Given the description of an element on the screen output the (x, y) to click on. 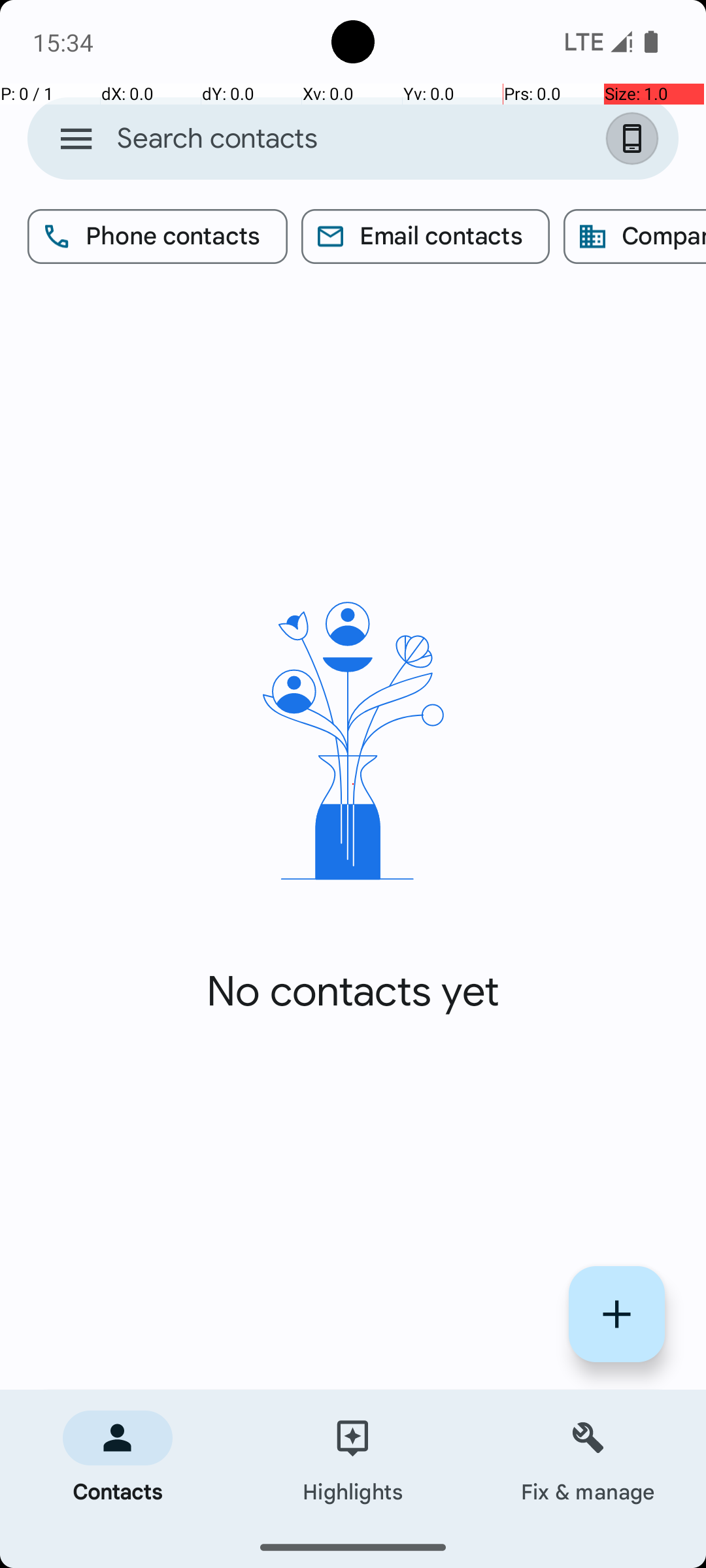
Create contact Element type: android.widget.ImageButton (616, 1314)
Contacts Element type: android.widget.FrameLayout (117, 1457)
Highlights Element type: android.widget.FrameLayout (352, 1457)
Fix & manage Element type: android.widget.FrameLayout (588, 1457)
Open navigation drawer Element type: android.widget.ImageButton (75, 138)
Signed in as Device
Account and settings. Element type: android.widget.FrameLayout (634, 138)
No contacts yet Element type: android.widget.TextView (353, 991)
Phone contacts Element type: android.widget.Button (157, 236)
Email contacts Element type: android.widget.Button (425, 236)
Company Element type: android.widget.Button (634, 236)
